Given the description of an element on the screen output the (x, y) to click on. 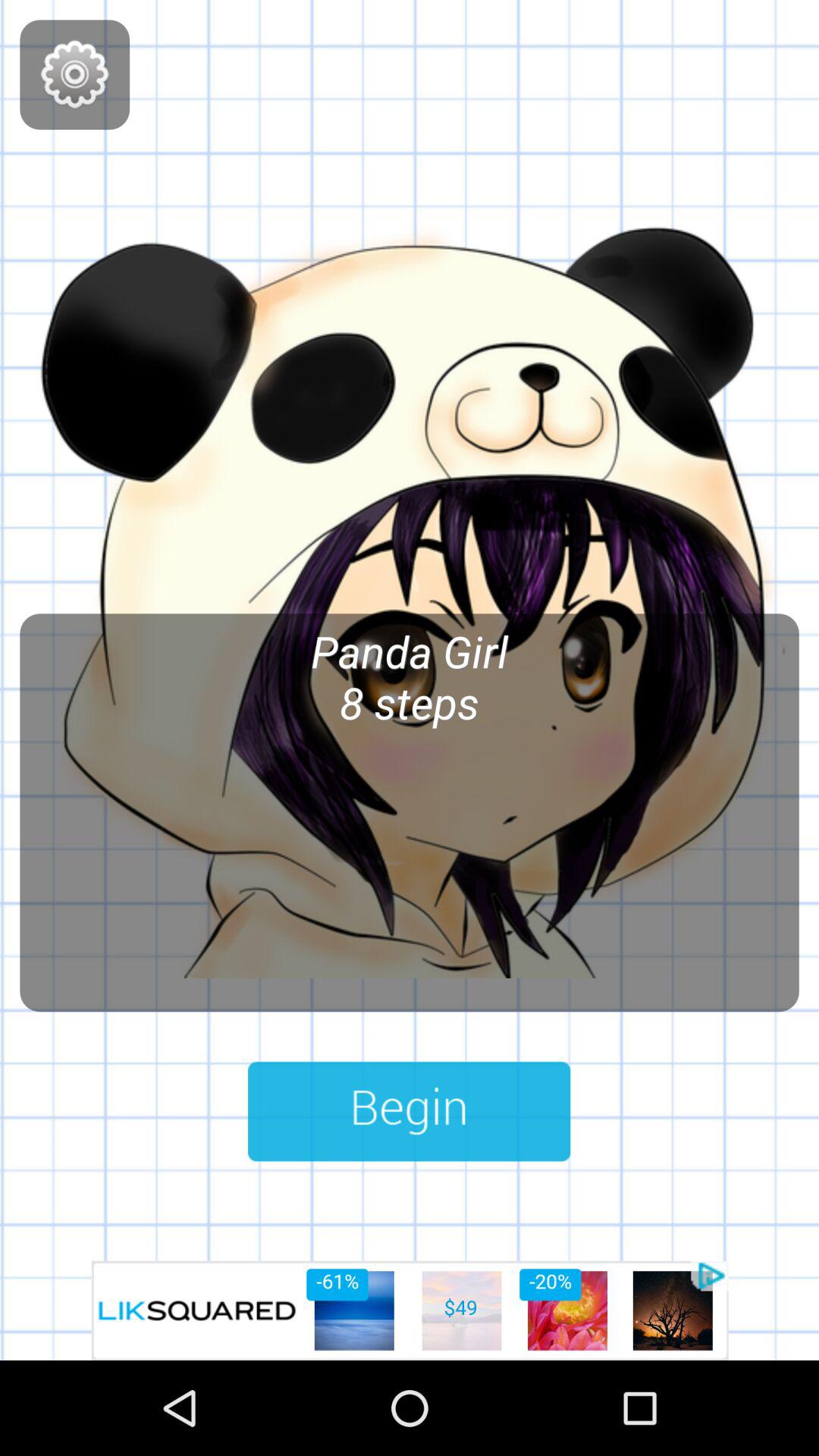
advertisement page (409, 1310)
